Given the description of an element on the screen output the (x, y) to click on. 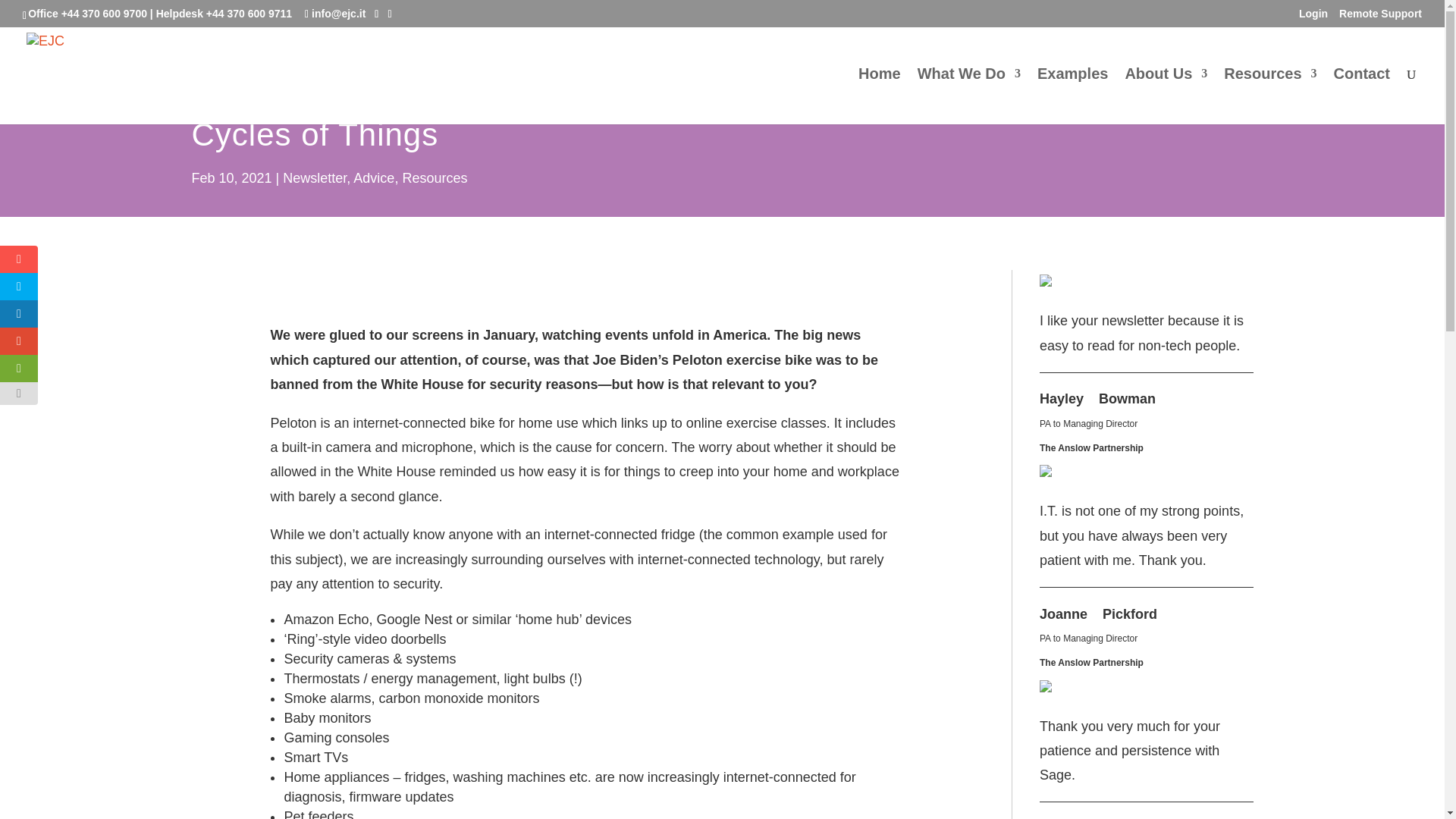
What We Do (968, 95)
Remote Support (1380, 16)
Newsletter (314, 177)
About Us (1165, 95)
Examples (1072, 95)
Contact (1361, 95)
Login (1312, 16)
Resources (434, 177)
Resources (1270, 95)
Advice (373, 177)
